Given the description of an element on the screen output the (x, y) to click on. 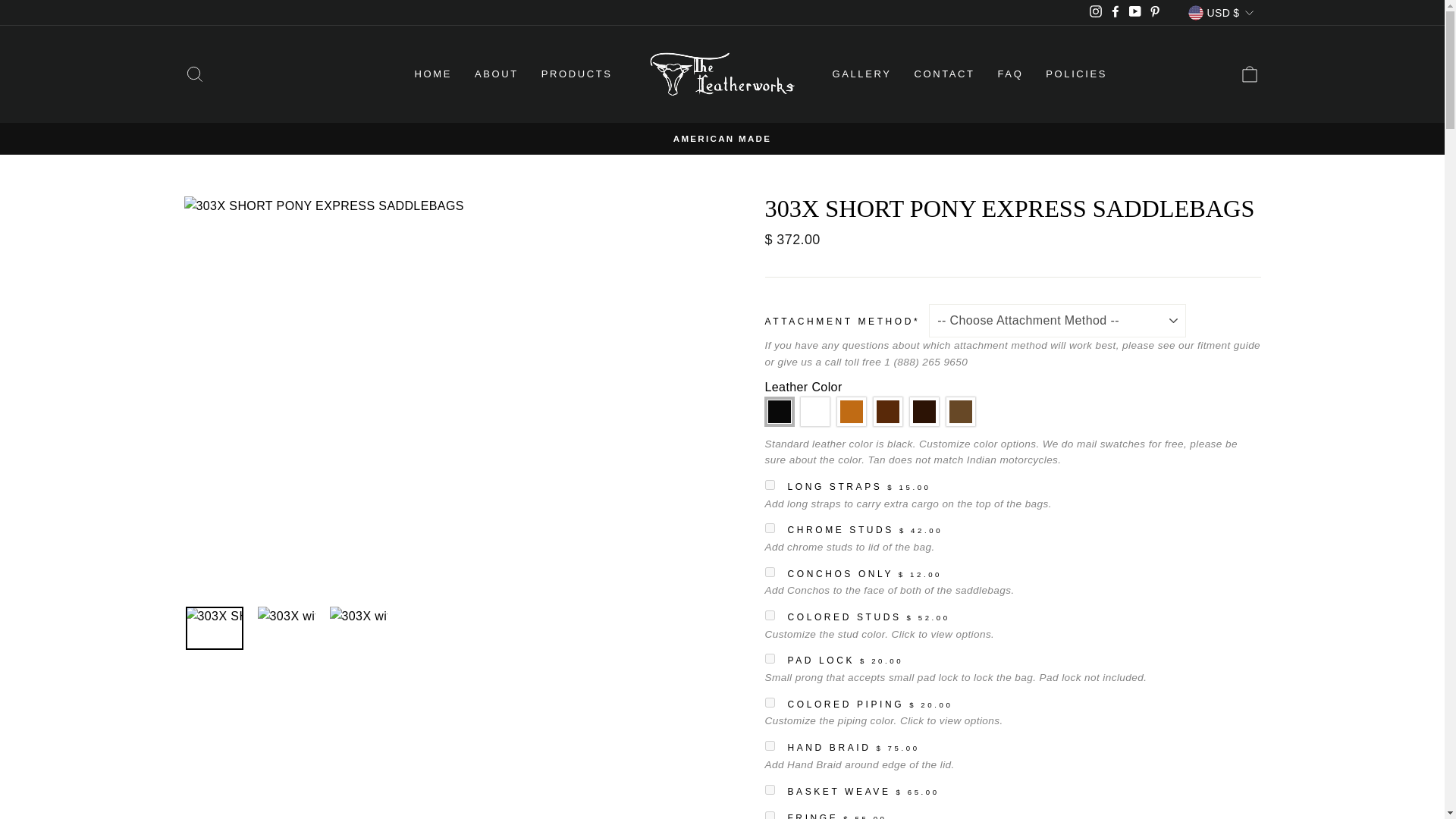
on (769, 528)
on (769, 614)
on (769, 789)
selected (448, 629)
on (769, 702)
on (769, 815)
on (769, 746)
on (769, 658)
on (769, 484)
